Given the description of an element on the screen output the (x, y) to click on. 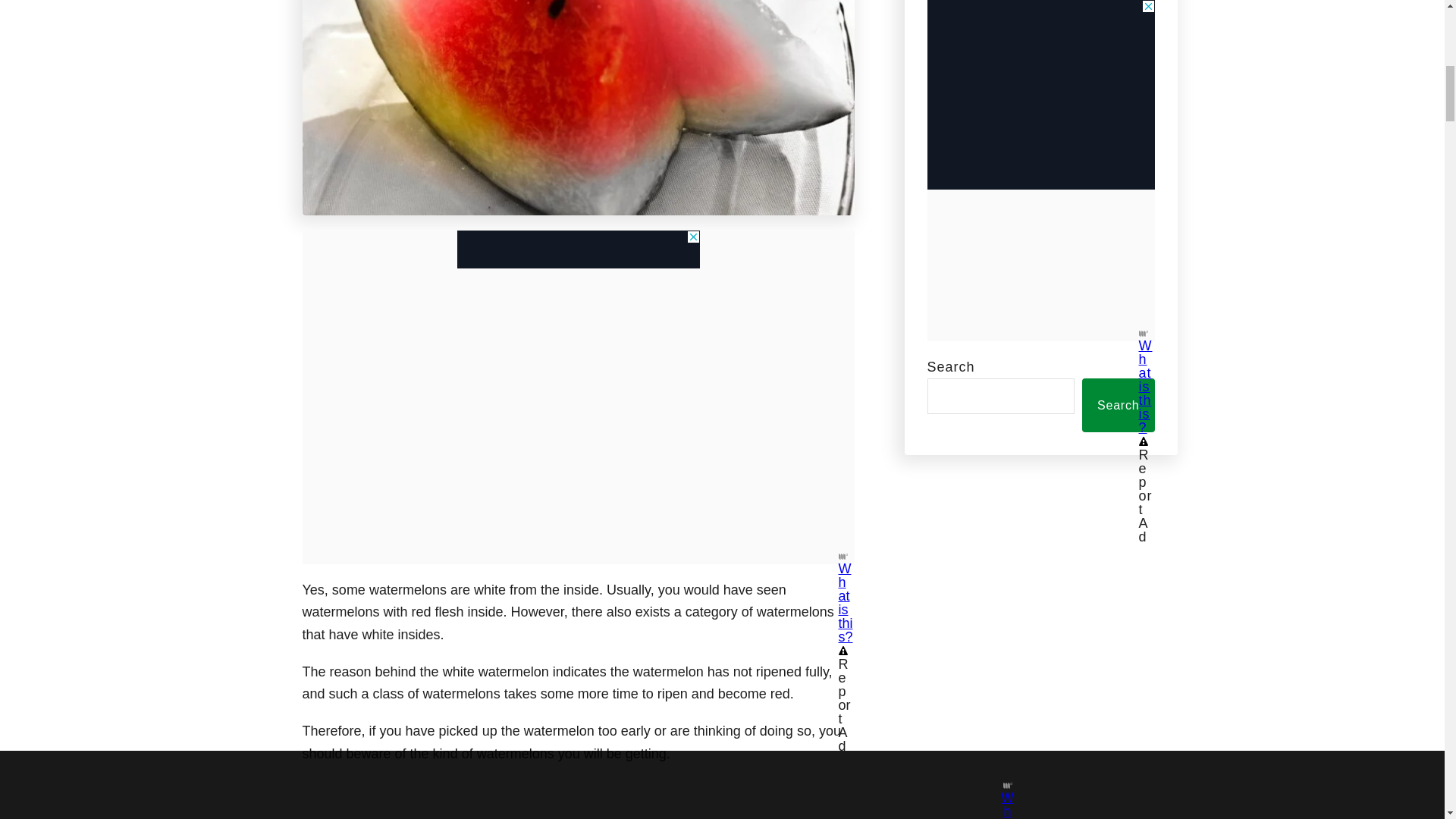
3rd party ad content (577, 249)
Watermelon White Inside: Here's what you need to know (577, 107)
